Given the description of an element on the screen output the (x, y) to click on. 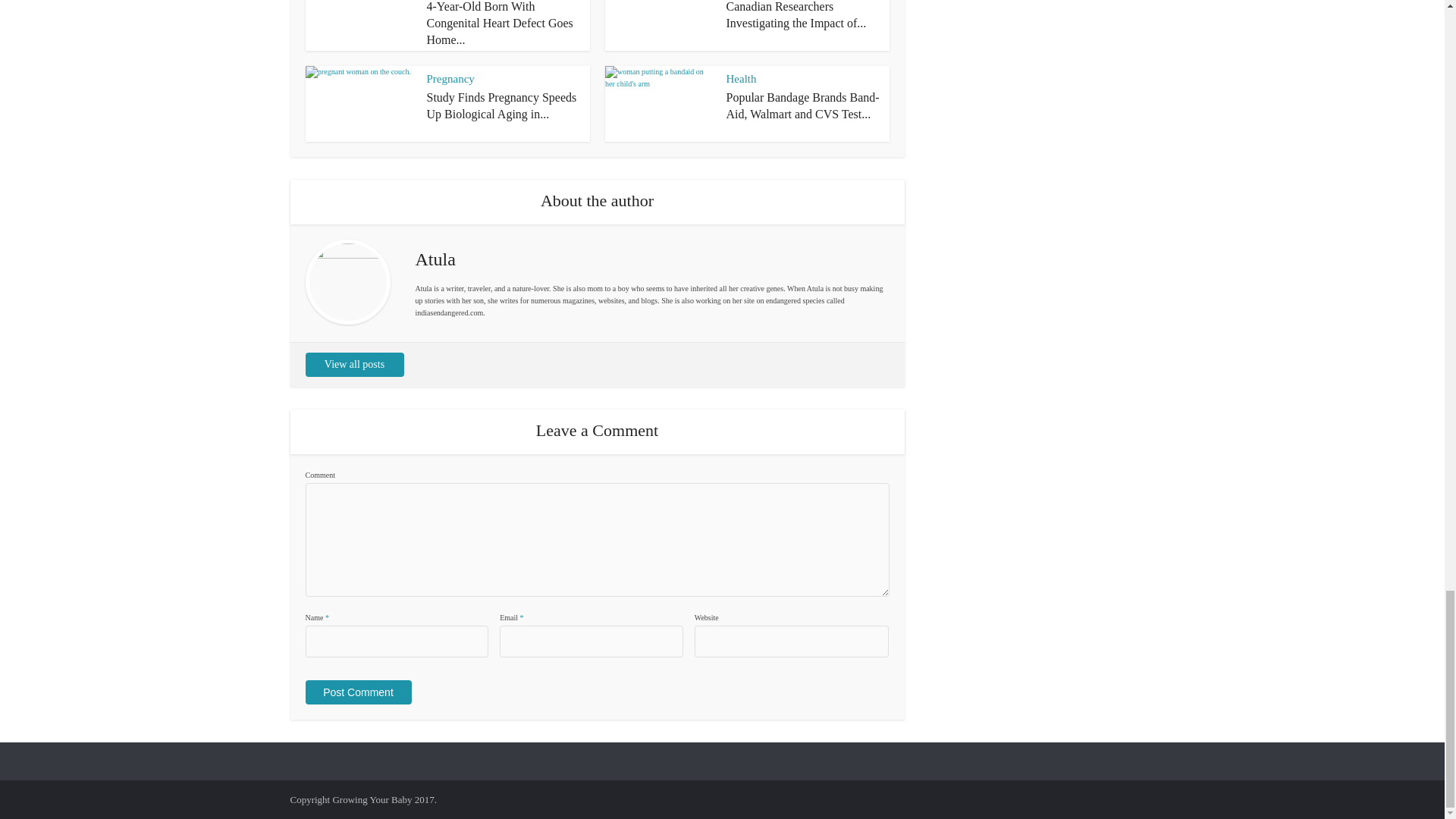
Post Comment (357, 692)
